Given the description of an element on the screen output the (x, y) to click on. 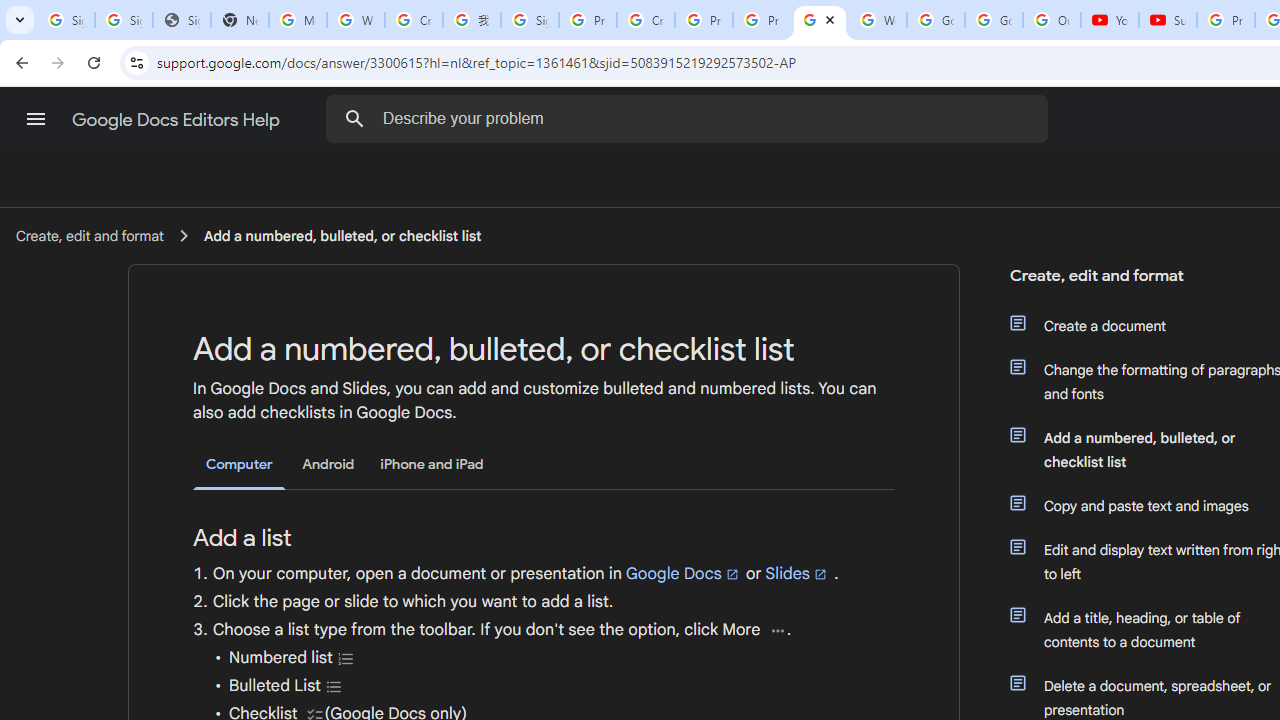
Close (829, 19)
Google Account (993, 20)
Back (19, 62)
Computer (239, 465)
New Tab (239, 20)
Create your Google Account (413, 20)
YouTube (1110, 20)
Reload (93, 62)
Add a numbered, bulleted, or checklist list (342, 235)
Who is my administrator? - Google Account Help (355, 20)
Describe your problem (689, 118)
